Given the description of an element on the screen output the (x, y) to click on. 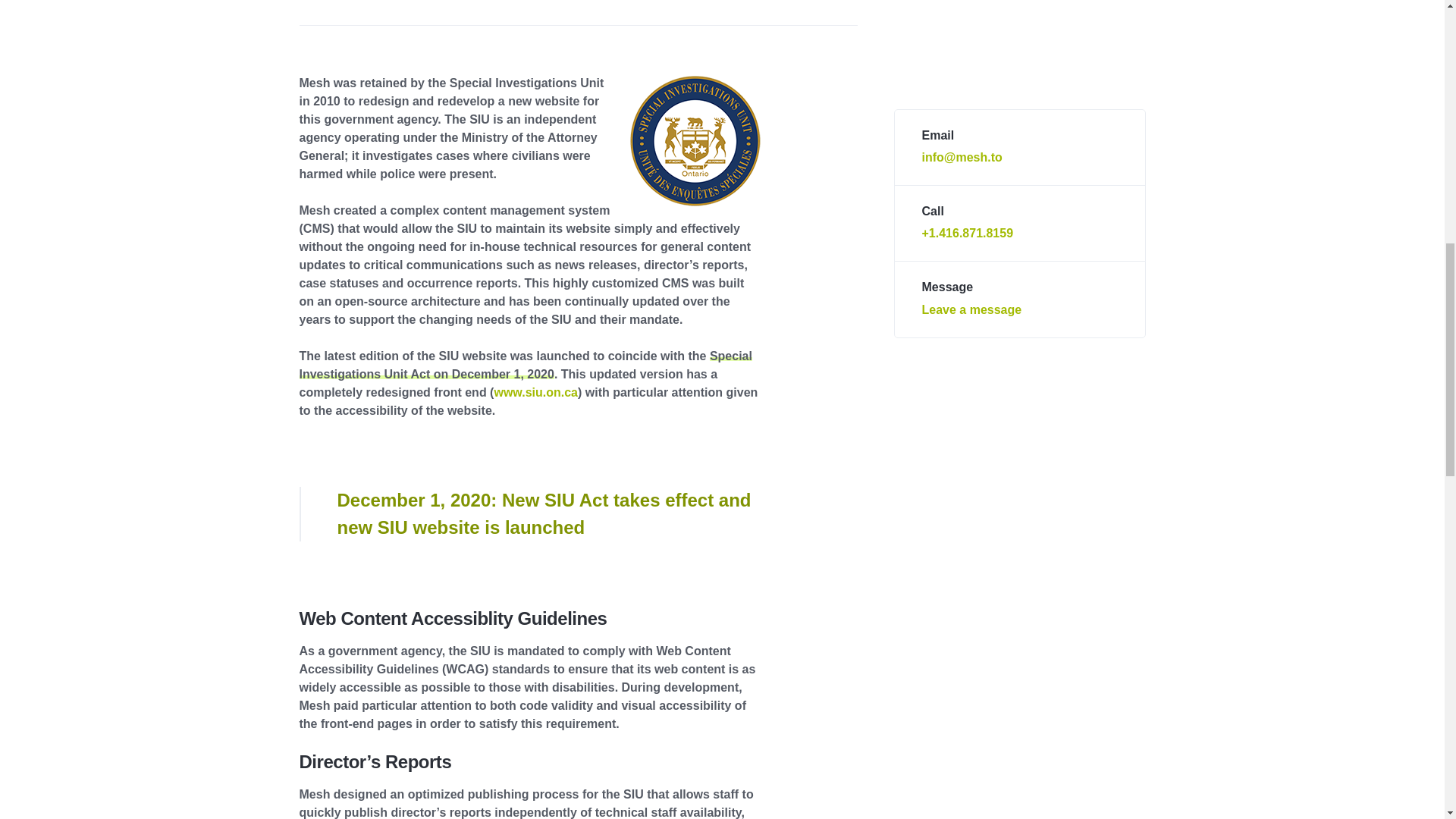
www.siu.on.ca (535, 391)
Leave a message (971, 47)
